Given the description of an element on the screen output the (x, y) to click on. 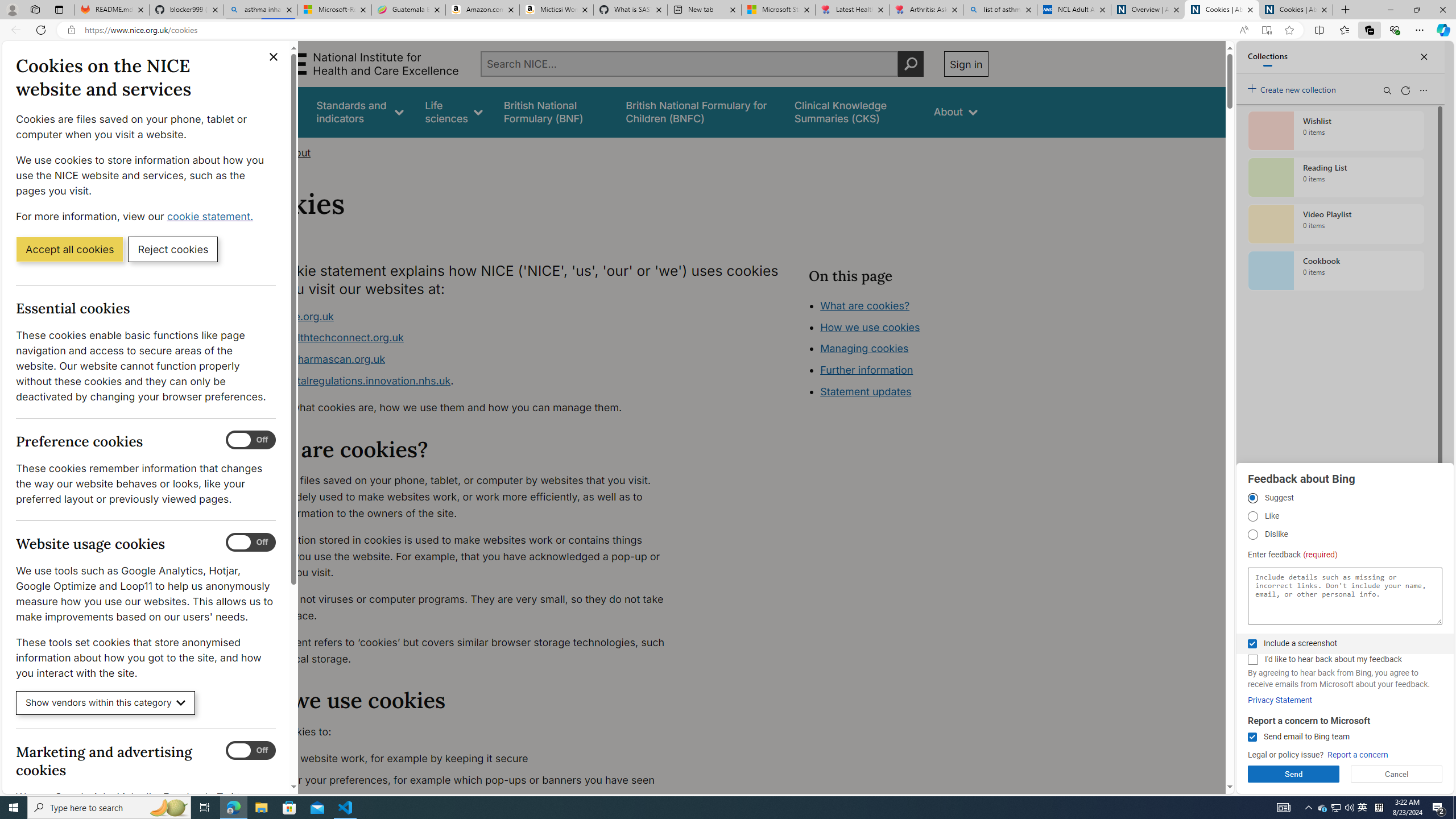
Send email to Bing team (1251, 737)
How we use cookies (909, 389)
Send (1293, 773)
Show vendors within this category (105, 703)
www.ukpharmascan.org.uk (464, 359)
www.nice.org.uk (464, 316)
